Given the description of an element on the screen output the (x, y) to click on. 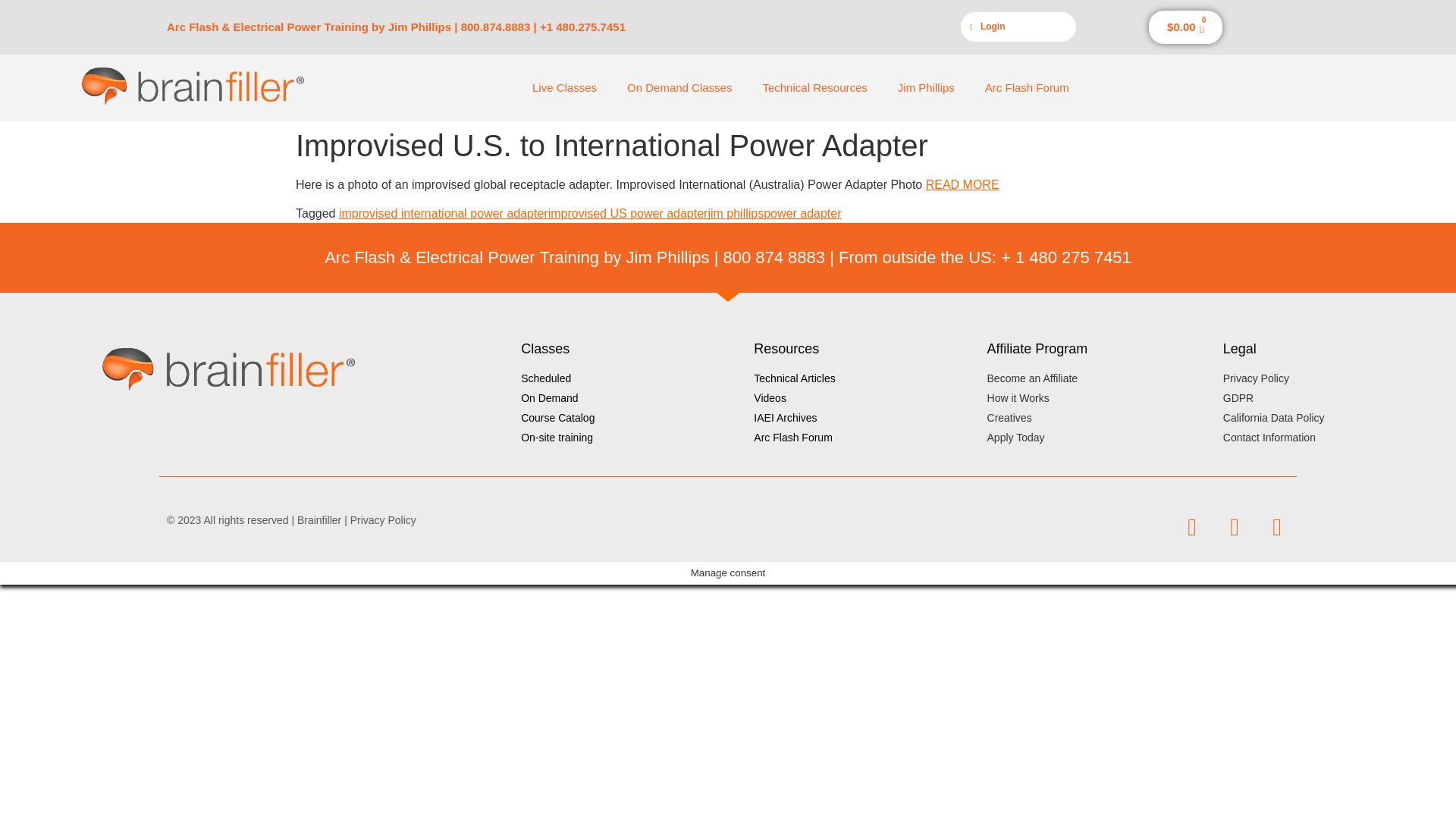
Jim Phillips (925, 87)
Login (1017, 26)
Live Classes (563, 87)
Technical Resources (814, 87)
On Demand Classes (678, 87)
Arc Flash Forum (1026, 87)
